Given the description of an element on the screen output the (x, y) to click on. 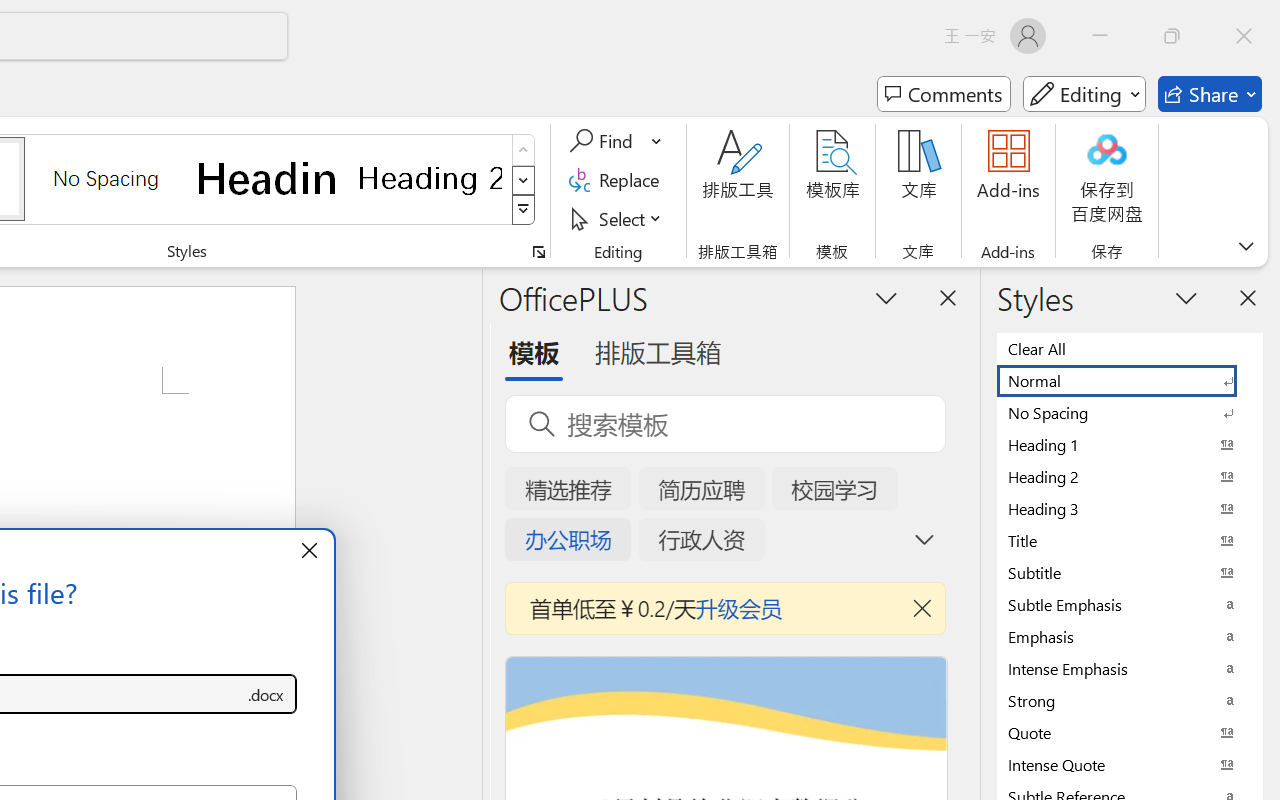
Row up (523, 150)
Heading 1 (267, 178)
Intense Emphasis (1130, 668)
Title (1130, 540)
Heading 3 (1130, 508)
Styles... (538, 252)
Heading 2 (429, 178)
Find (616, 141)
Replace... (617, 179)
